Given the description of an element on the screen output the (x, y) to click on. 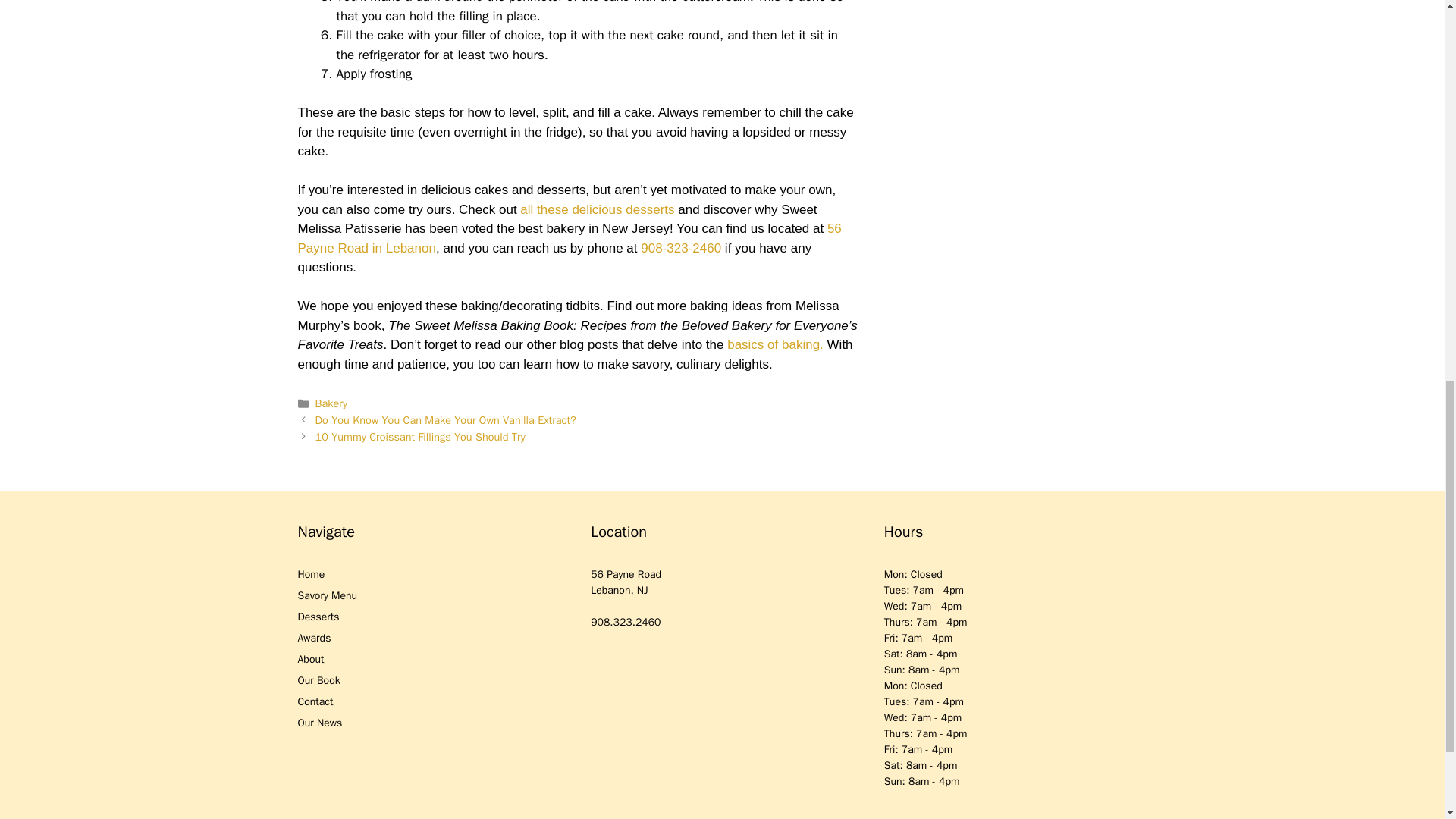
56 Payne Road in Lebanon (569, 238)
10 Yummy Croissant Fillings You Should Try (420, 436)
Bakery (331, 403)
908-323-2460 (680, 247)
Do You Know You Can Make Your Own Vanilla Extract? (445, 419)
all these delicious desserts (596, 209)
basics of baking. (775, 344)
